Given the description of an element on the screen output the (x, y) to click on. 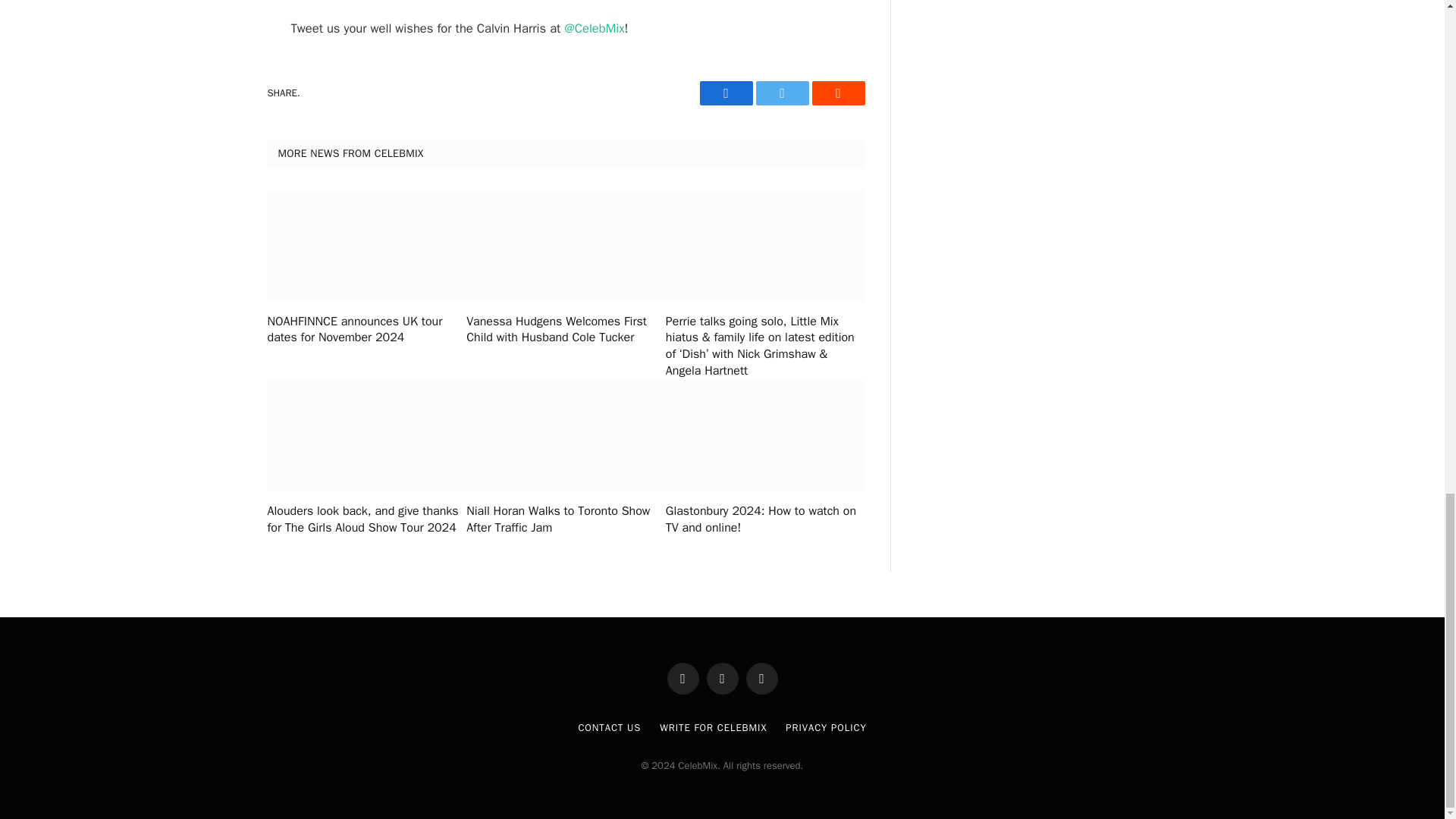
NOAHFINNCE announces UK tour dates for November 2024 (365, 330)
Facebook (725, 93)
Share on Facebook (725, 93)
Twitter (781, 93)
Reddit (837, 93)
